Given the description of an element on the screen output the (x, y) to click on. 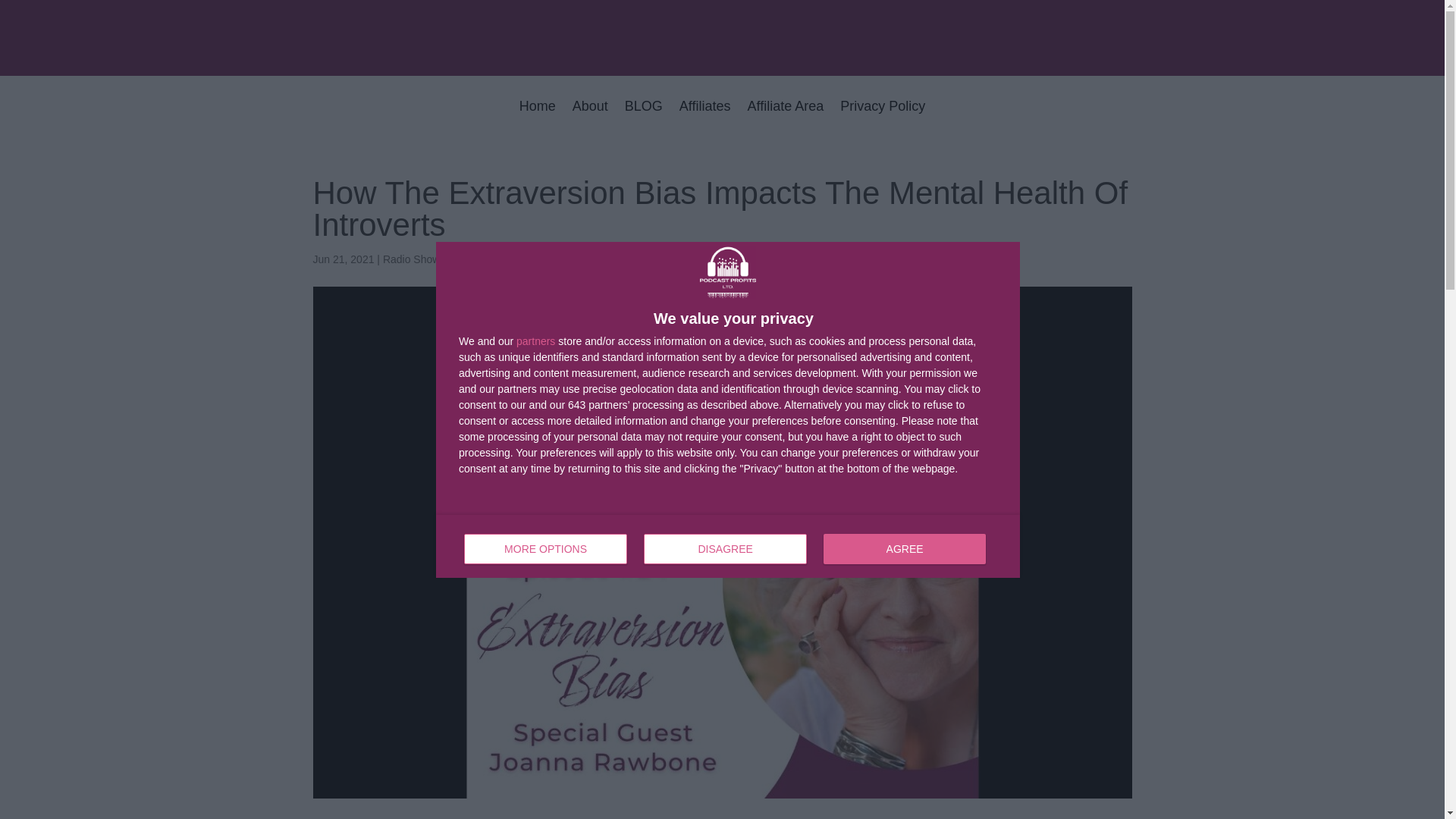
BLOG (727, 545)
Home (643, 116)
partners (537, 116)
AGREE (535, 339)
Radio Show (904, 548)
Affiliates (410, 259)
Privacy Policy (704, 116)
Affiliate Area (882, 116)
About (786, 116)
DISAGREE (590, 116)
Videos (724, 548)
MORE OPTIONS (461, 259)
